Given the description of an element on the screen output the (x, y) to click on. 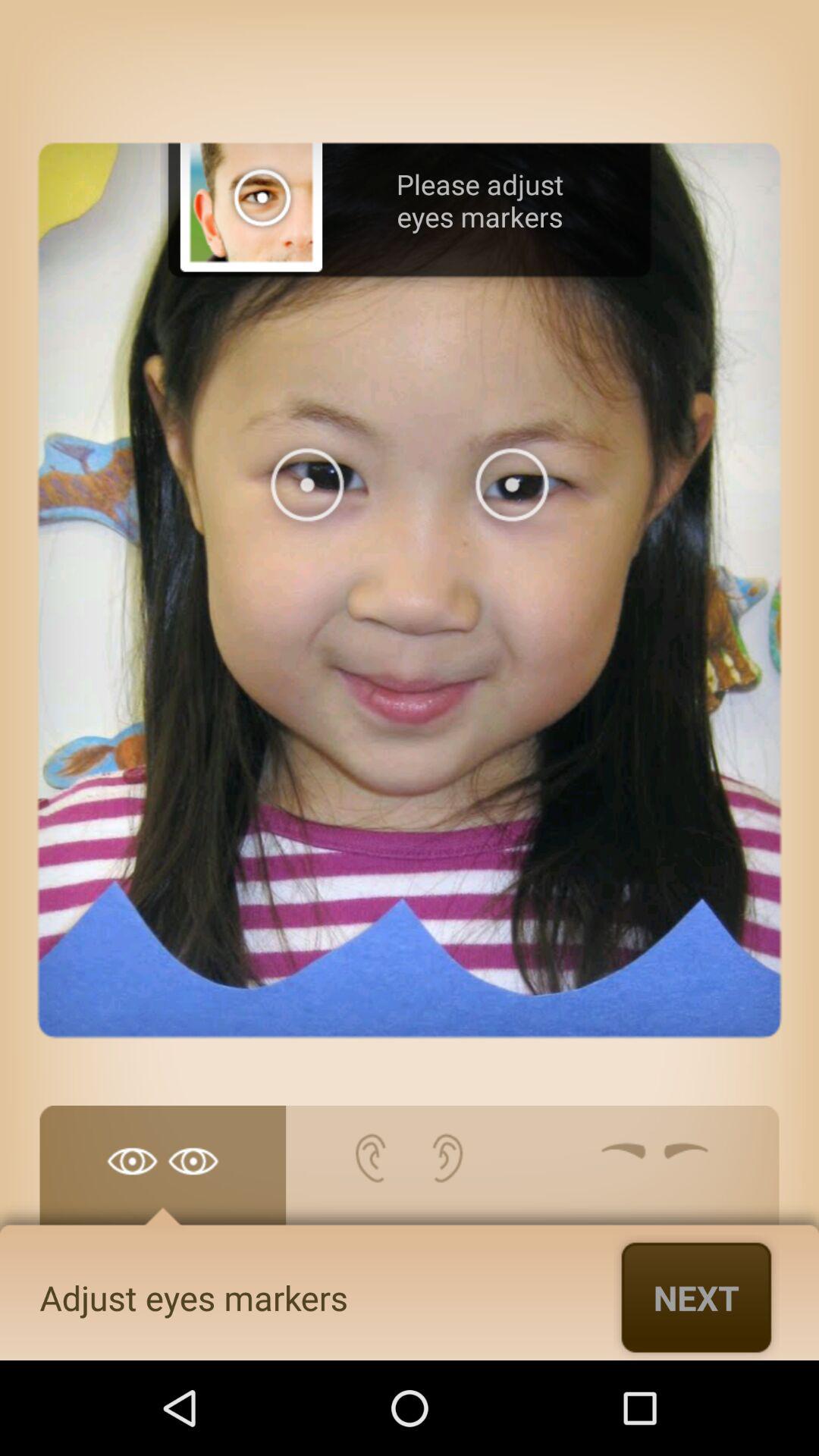
adjust eyebrowns (655, 1173)
